Given the description of an element on the screen output the (x, y) to click on. 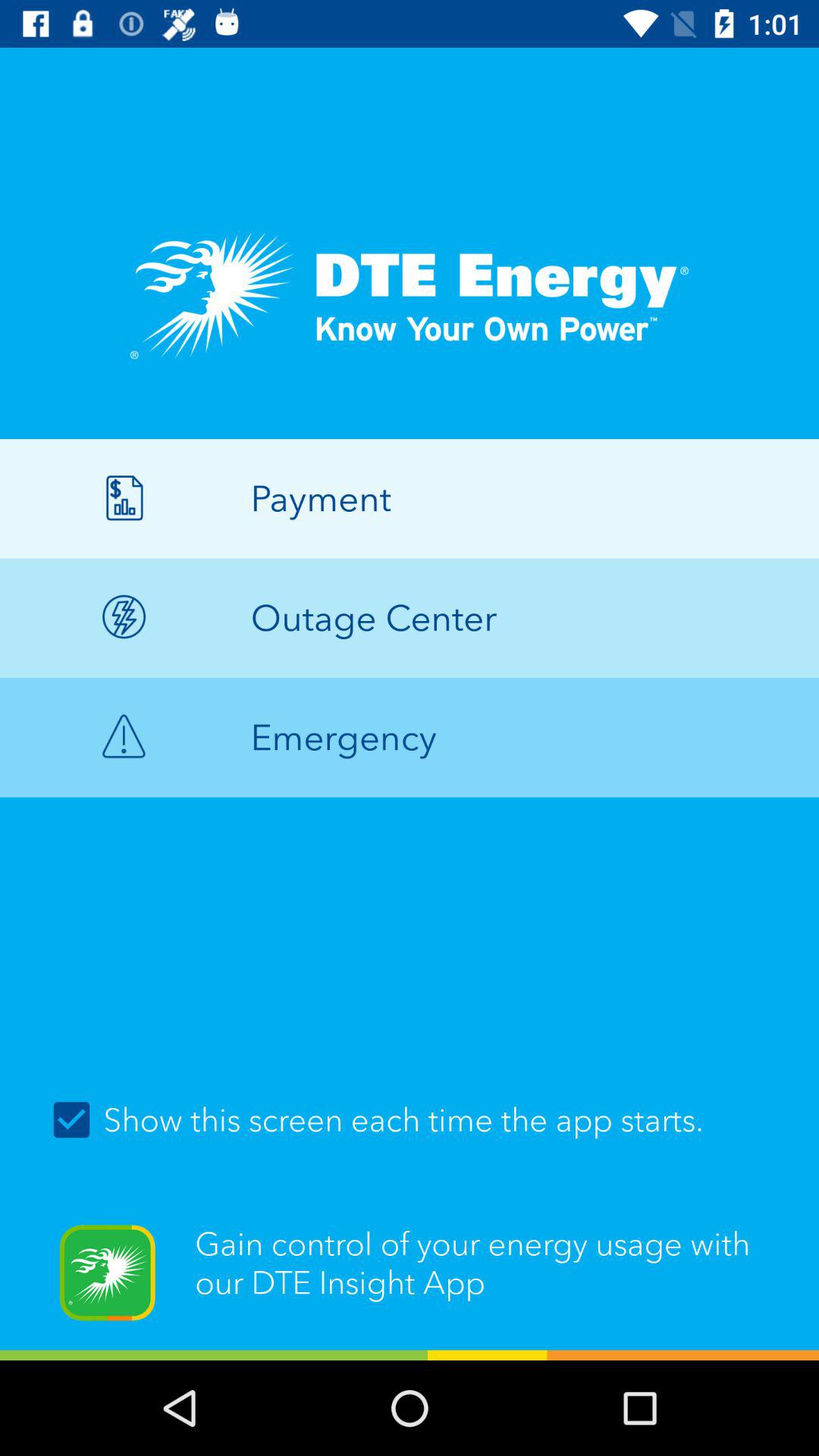
launch the icon below the payment icon (409, 617)
